Given the description of an element on the screen output the (x, y) to click on. 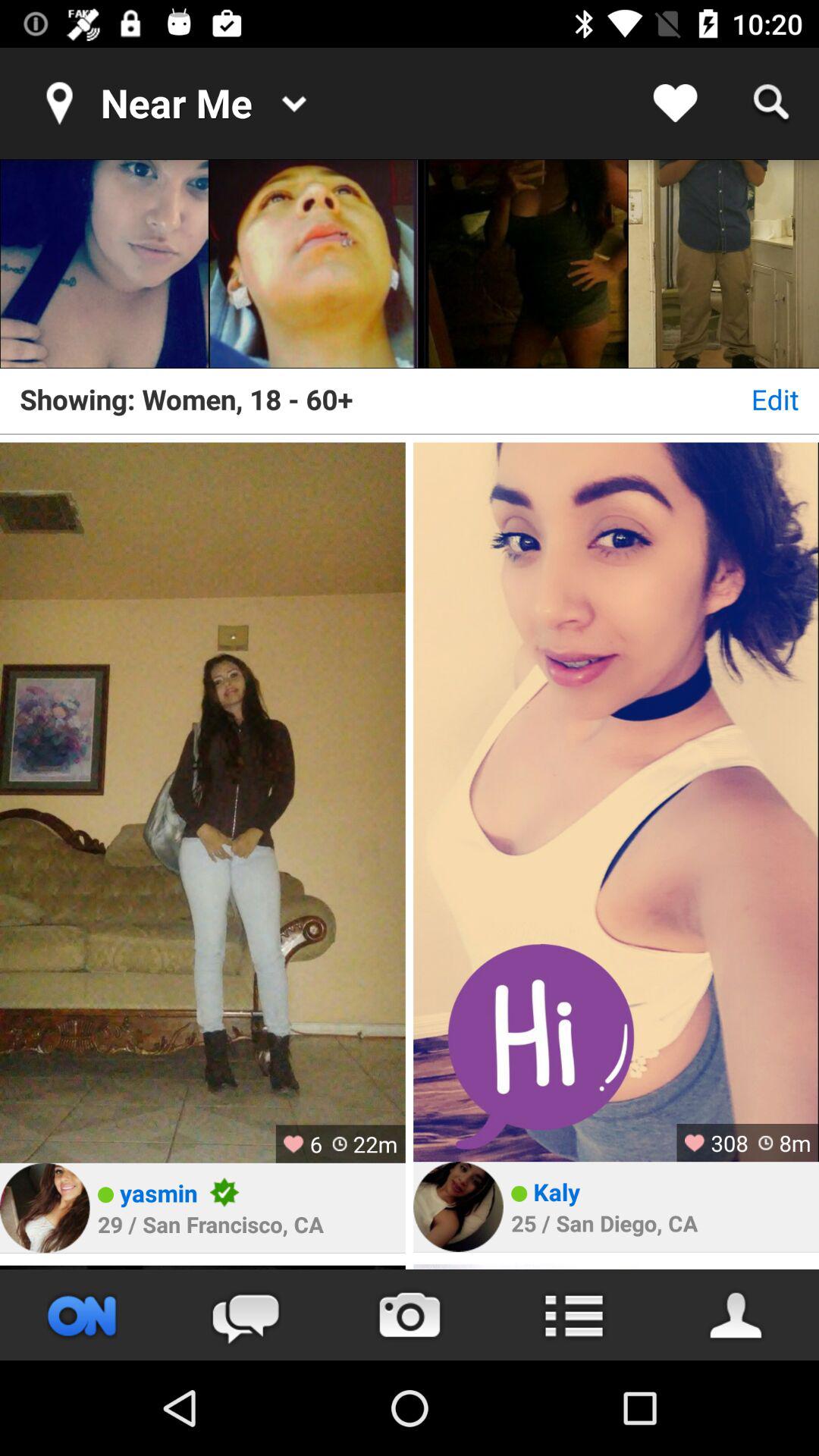
preview the profile (616, 1266)
